Given the description of an element on the screen output the (x, y) to click on. 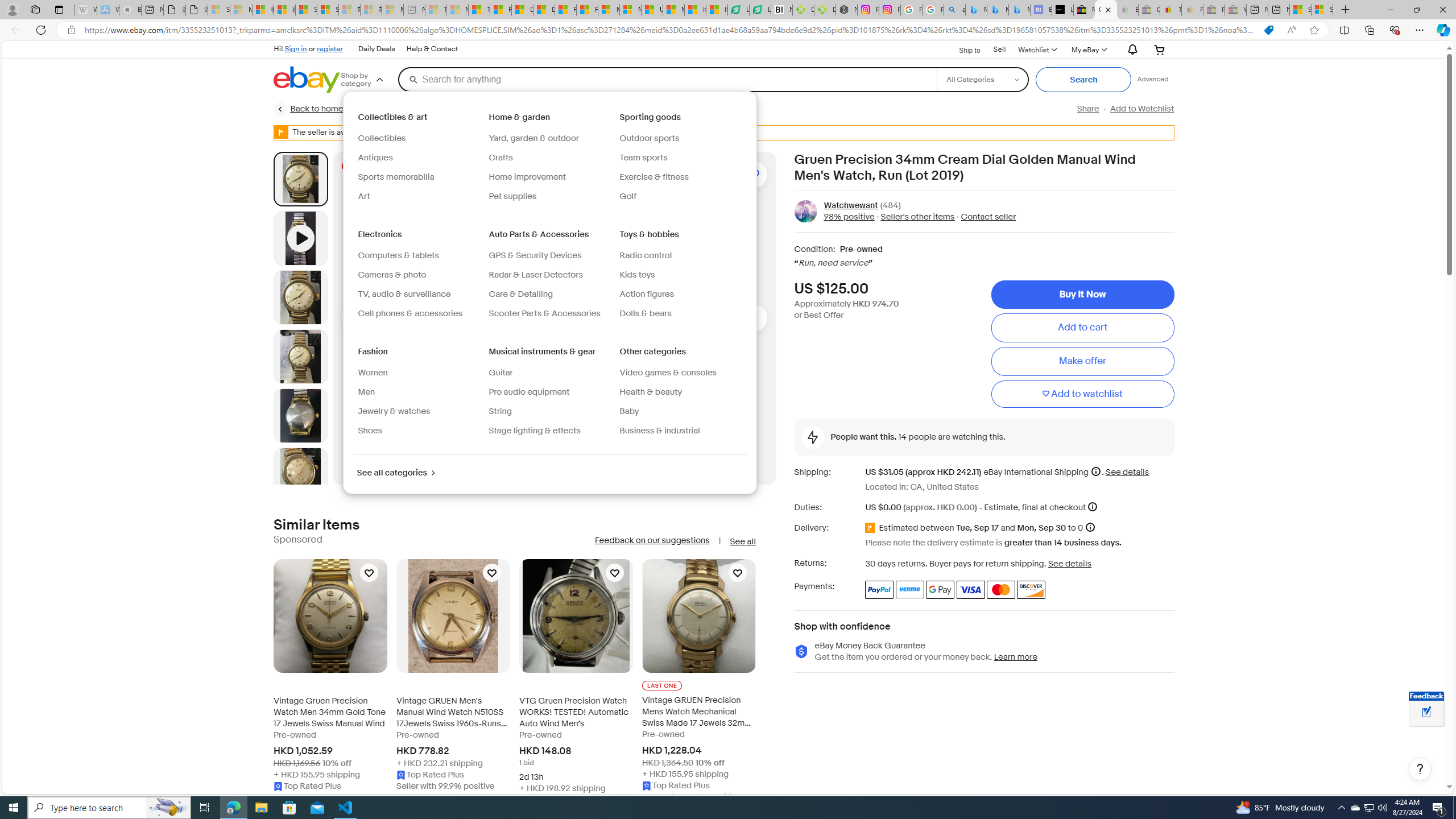
Art (418, 196)
Cell phones & accessories (418, 313)
Picture 2 of 13 (300, 297)
Jewelry & Watches (418, 108)
Radio control (645, 255)
98% positive (849, 216)
Outdoor sports (679, 138)
Business & industrial (679, 430)
Microsoft Bing Travel - Flights from Hong Kong to Bangkok (975, 9)
Seller's other items (917, 216)
GPS & Security Devices (549, 255)
Expand Cart (1159, 49)
